Given the description of an element on the screen output the (x, y) to click on. 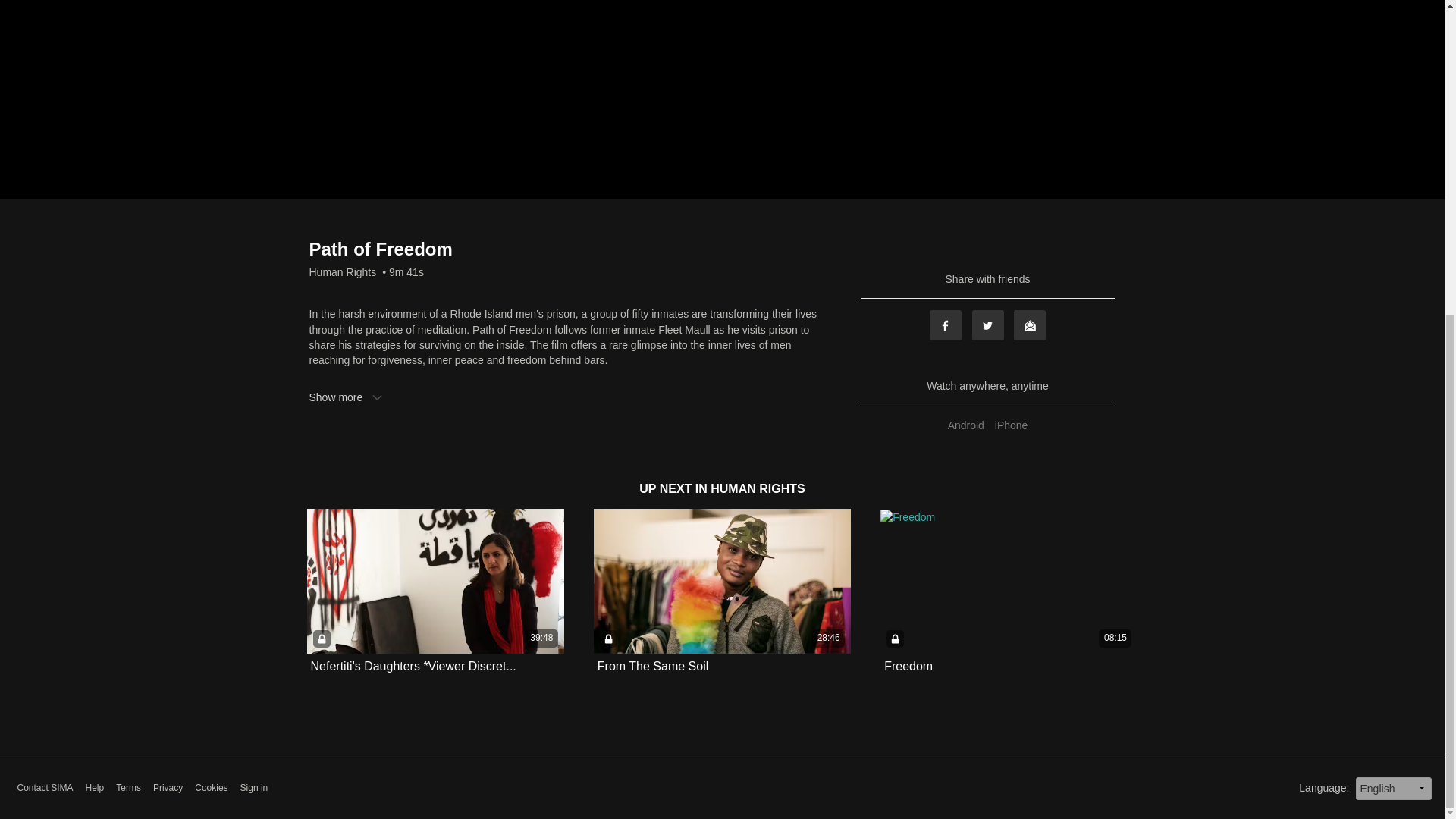
Email (1029, 325)
Freedom (908, 666)
From The Same Soil (651, 666)
Privacy (167, 788)
Terms (128, 788)
Contact SIMA (44, 788)
Sign in (253, 788)
Human Rights (342, 272)
39:48 (434, 580)
iPhone (1011, 425)
